Given the description of an element on the screen output the (x, y) to click on. 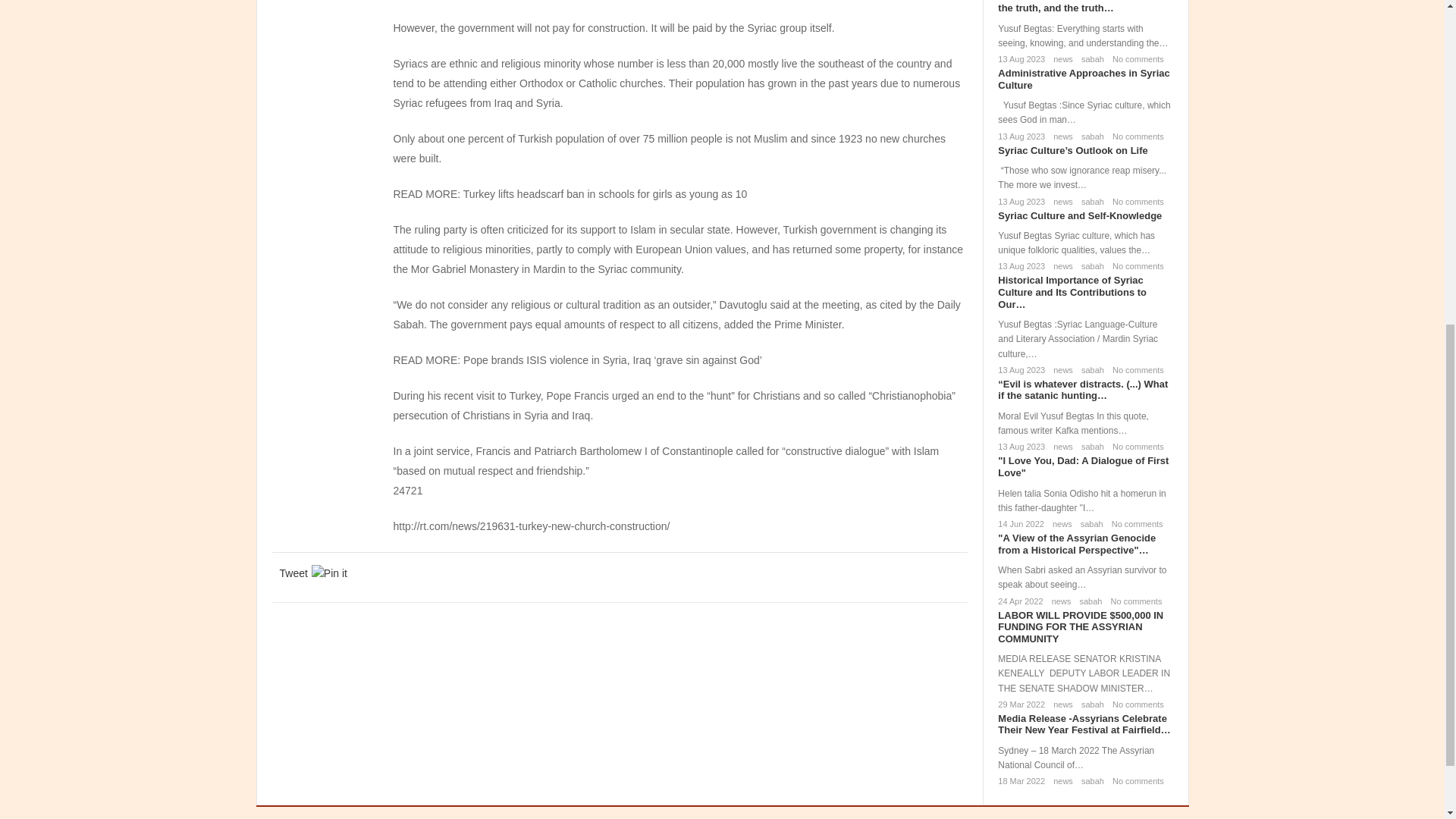
Administrative Approaches in Syriac Culture (1083, 78)
I Love You, Dad: A Dialogue of First Love (1083, 466)
Tweet (293, 573)
Pin it (329, 573)
